Given the description of an element on the screen output the (x, y) to click on. 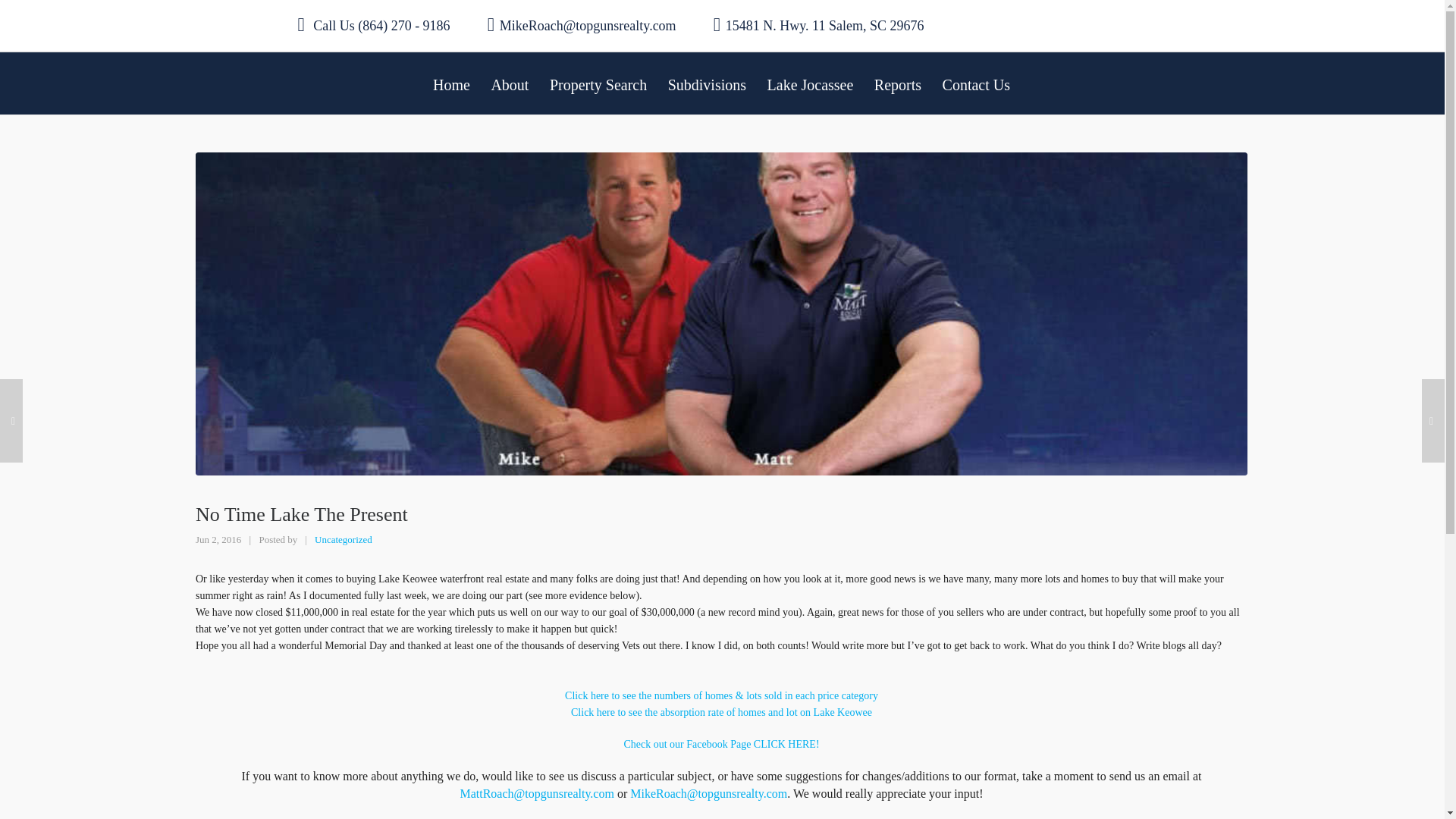
Lake Keowee Real Estate Reserve (720, 744)
About (509, 83)
Home (451, 83)
View all posts in Uncategorized (343, 539)
Lake Keowee Waterfront Real Estate Numbe (720, 695)
15481 N. Hwy. 11 Salem, SC 29676 (818, 24)
Lake Keowee Real Estate Numbers Roach (721, 712)
